Given the description of an element on the screen output the (x, y) to click on. 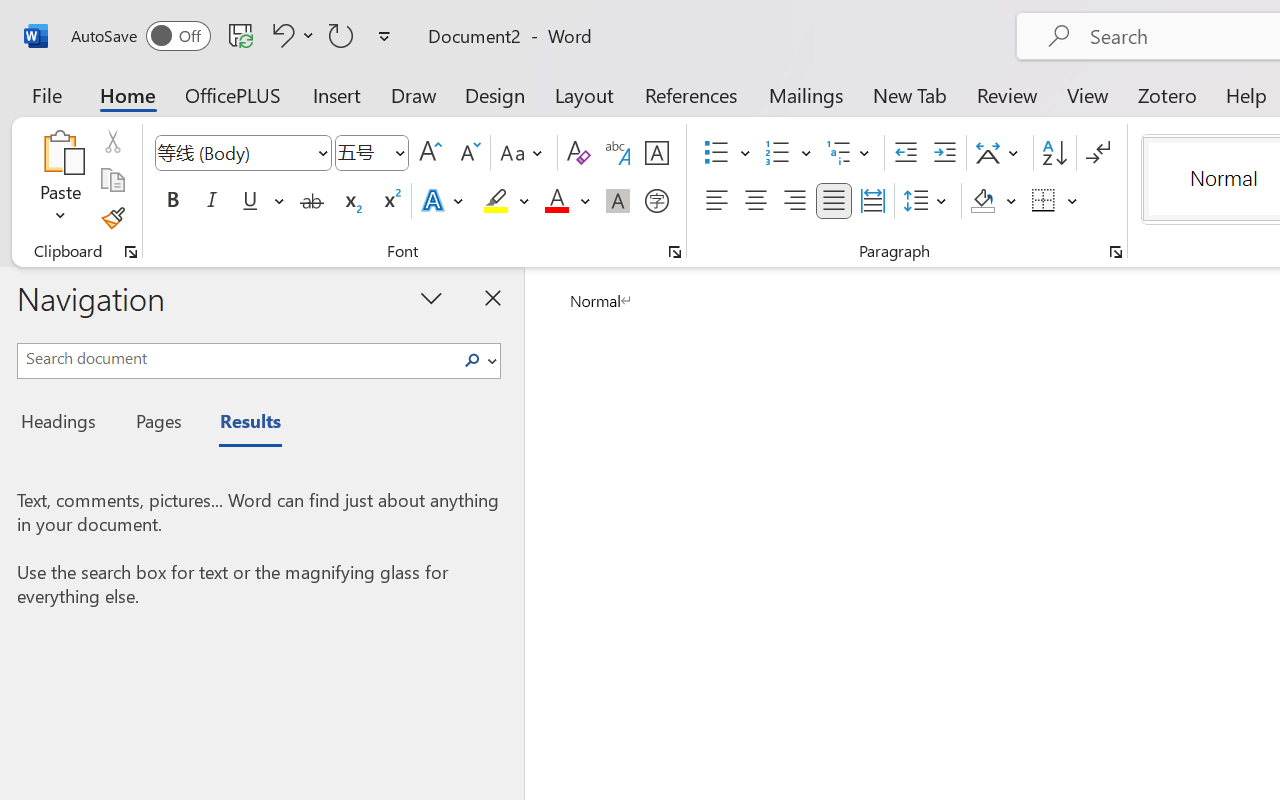
Distributed (872, 201)
File Tab (46, 94)
Undo Apply Quick Style (280, 35)
Enclose Characters... (656, 201)
Text Highlight Color Yellow (495, 201)
Strikethrough (312, 201)
Layout (584, 94)
Mailings (806, 94)
Shading (993, 201)
Repeat Style (341, 35)
Review (1007, 94)
Superscript (390, 201)
